Given the description of an element on the screen output the (x, y) to click on. 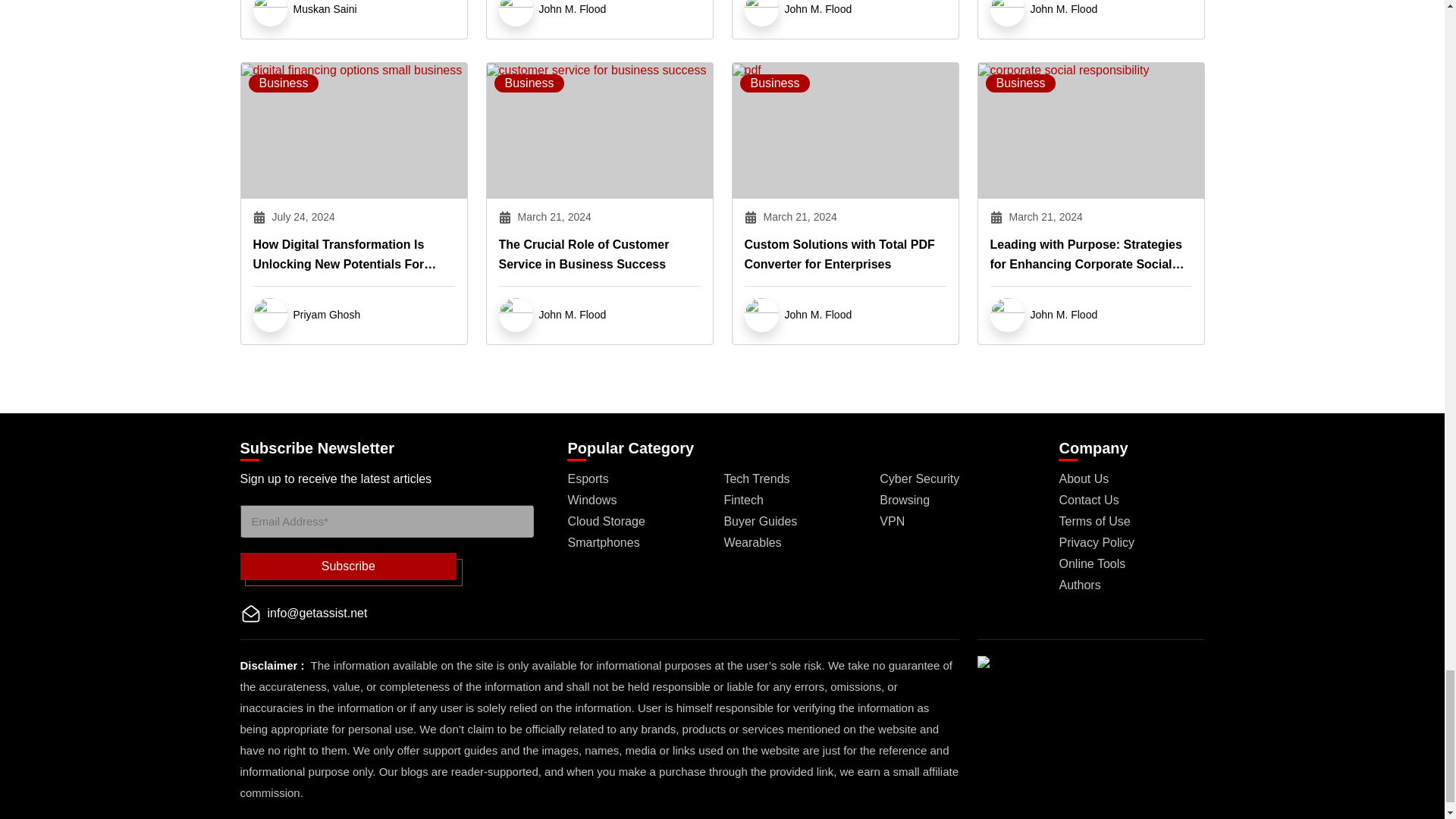
Cloud Storage (606, 521)
VPN (891, 521)
Fintech (742, 499)
Muskan Saini (324, 8)
Smartphones (603, 542)
Buyer Guides (759, 521)
Browsing (904, 499)
Esports (587, 478)
Windows (591, 499)
Cyber Security (919, 478)
